Given the description of an element on the screen output the (x, y) to click on. 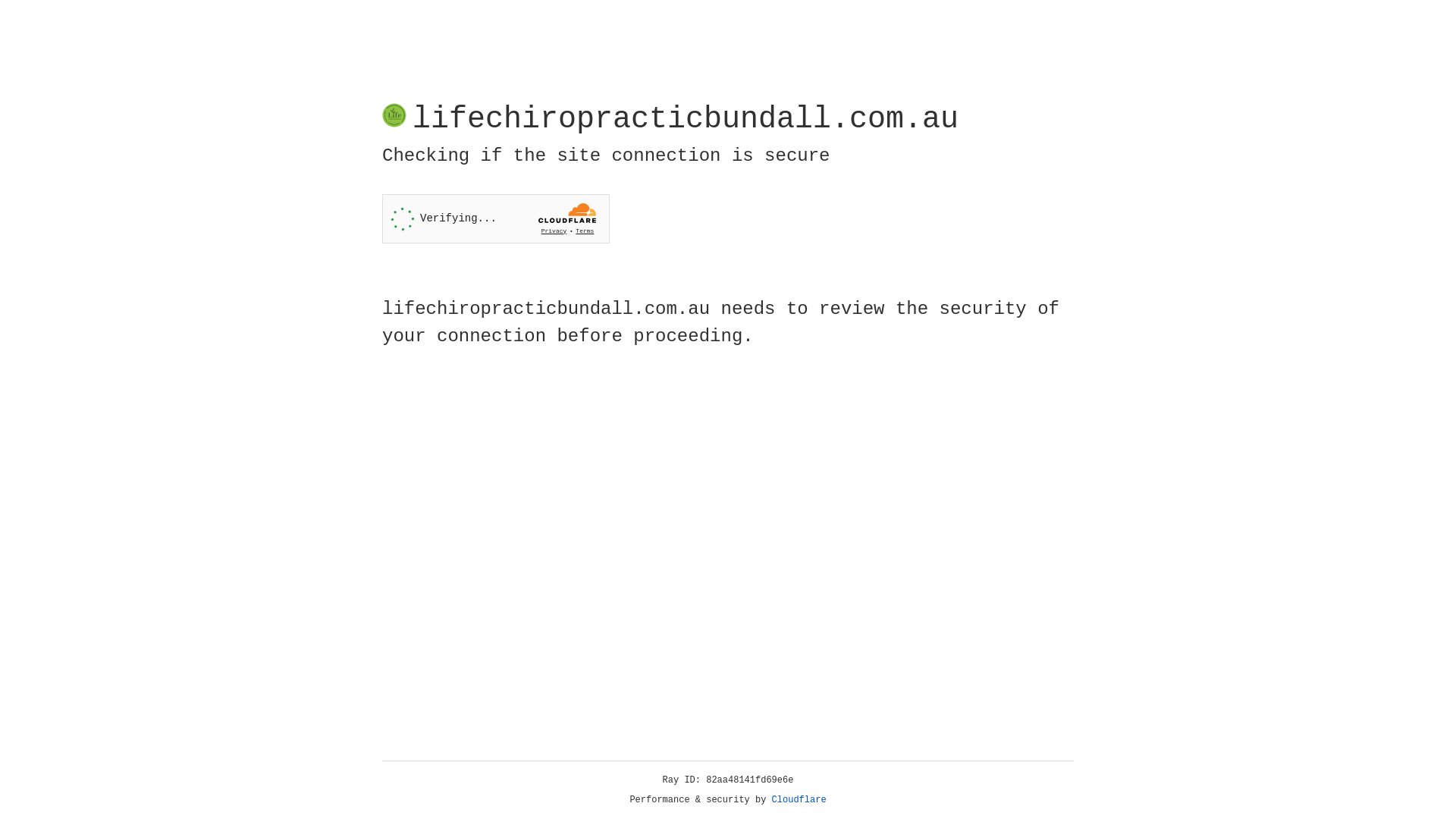
Cloudflare Element type: text (798, 799)
Widget containing a Cloudflare security challenge Element type: hover (495, 218)
